Given the description of an element on the screen output the (x, y) to click on. 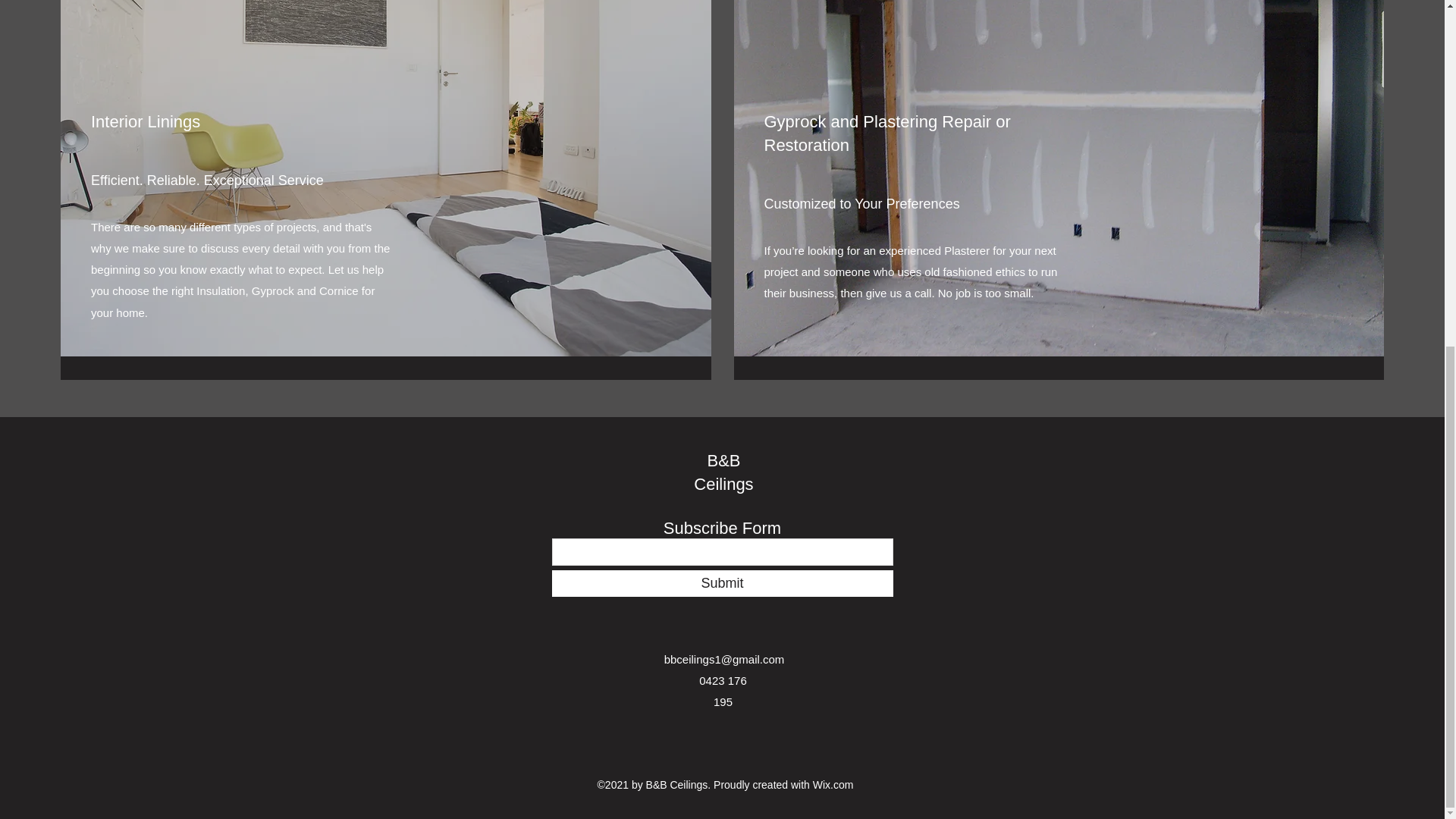
Submit (722, 583)
